Given the description of an element on the screen output the (x, y) to click on. 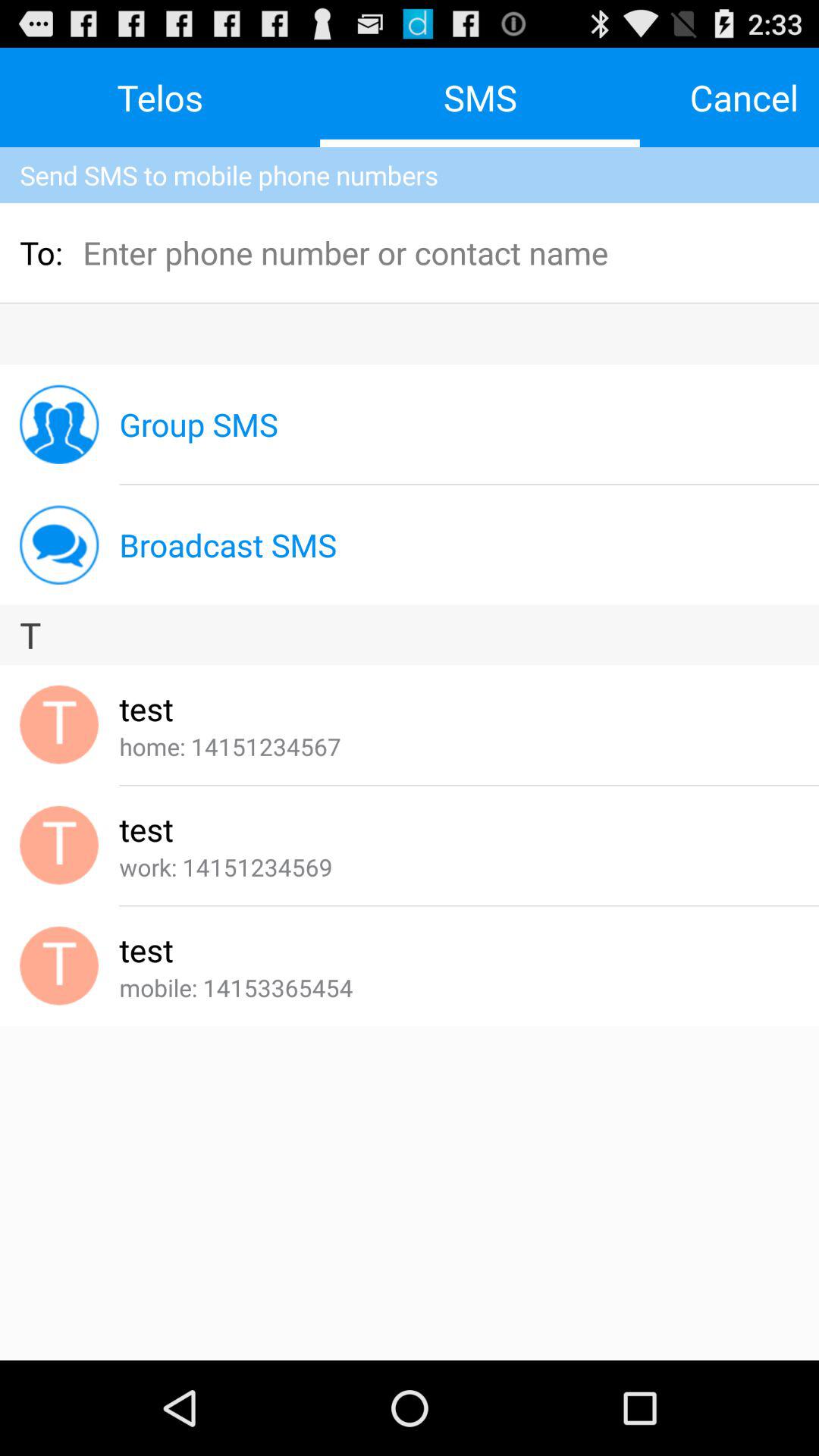
press the icon to the right of the to: (183, 252)
